Given the description of an element on the screen output the (x, y) to click on. 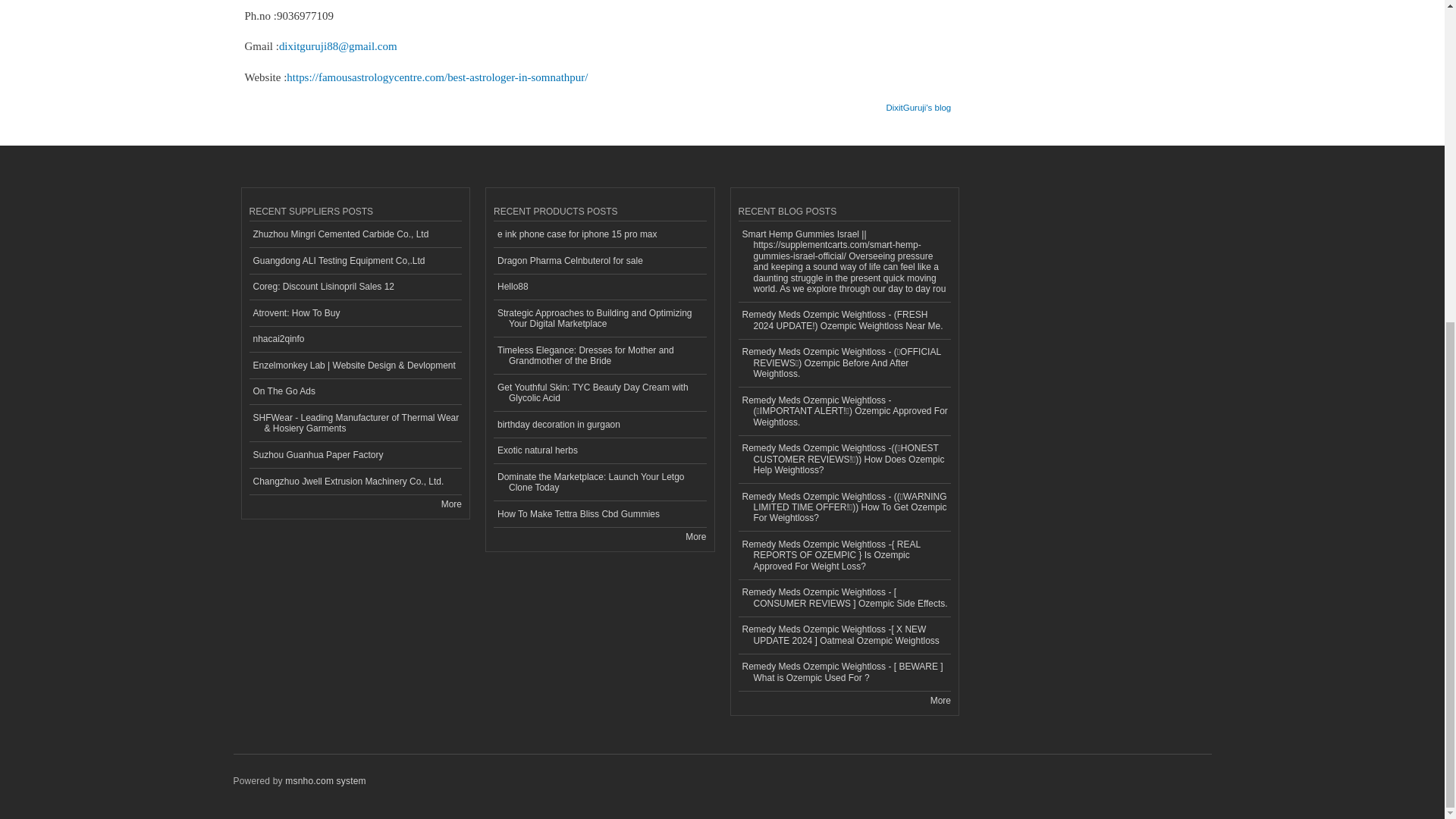
DixitGuruji's blog (917, 102)
Suzhou Guanhua Paper Factory (354, 455)
Atrovent: How To Buy (354, 313)
Get Youthful Skin: TYC Beauty Day Cream with Glycolic Acid (599, 392)
Changzhuo Jwell Extrusion Machinery Co., Ltd. (354, 481)
Read the latest products entries. (695, 536)
On The Go Ads (354, 392)
More (451, 502)
Guangdong ALI Testing Equipment Co,.Ltd (354, 261)
Read the latest blog entries. (940, 700)
Read the latest suppliers entries. (451, 502)
Zhuzhou Mingri Cemented Carbide Co., Ltd (354, 234)
Read DixitGuruji's latest blog entries. (917, 102)
